Given the description of an element on the screen output the (x, y) to click on. 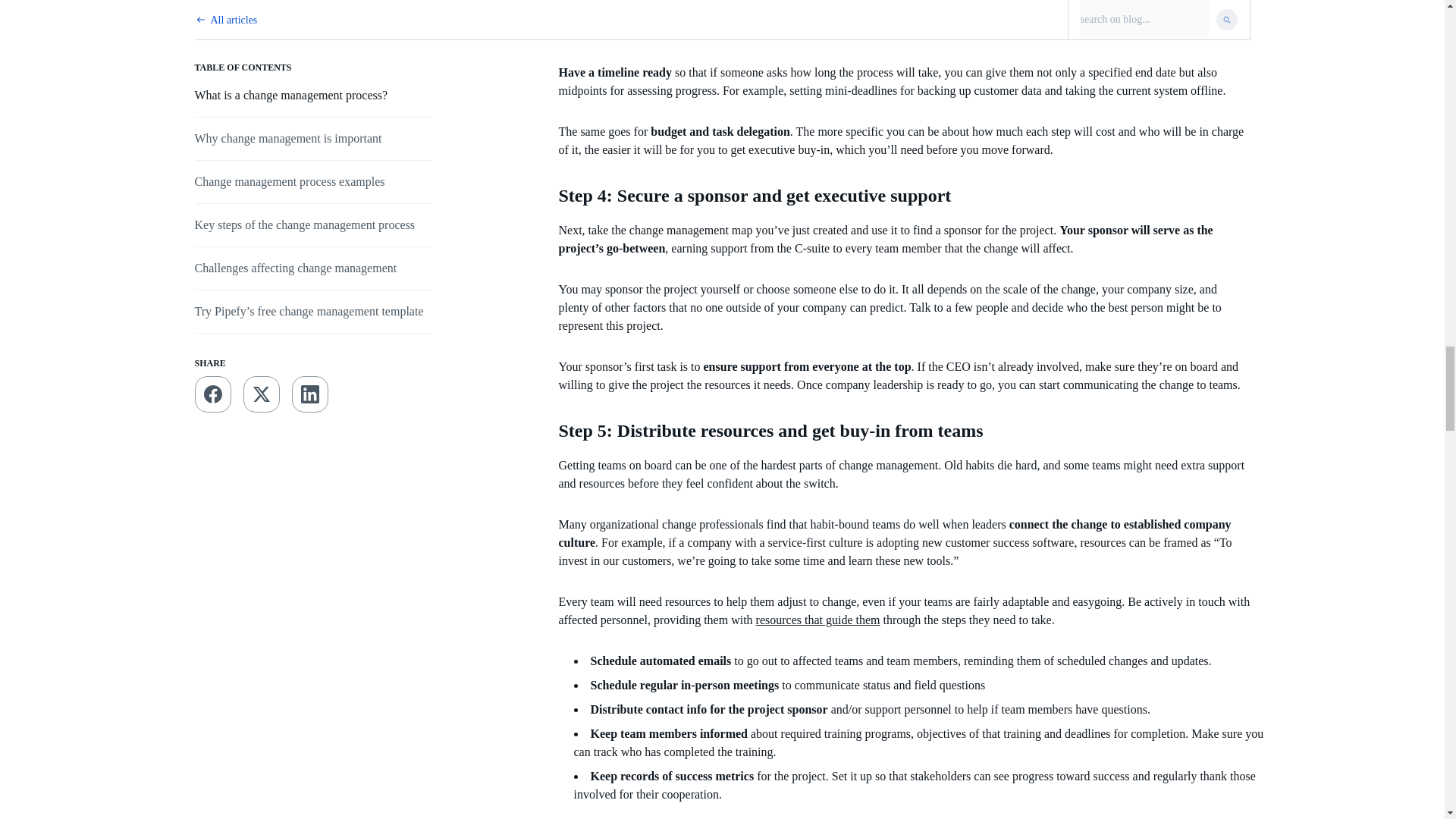
resources that guide them (817, 619)
